Given the description of an element on the screen output the (x, y) to click on. 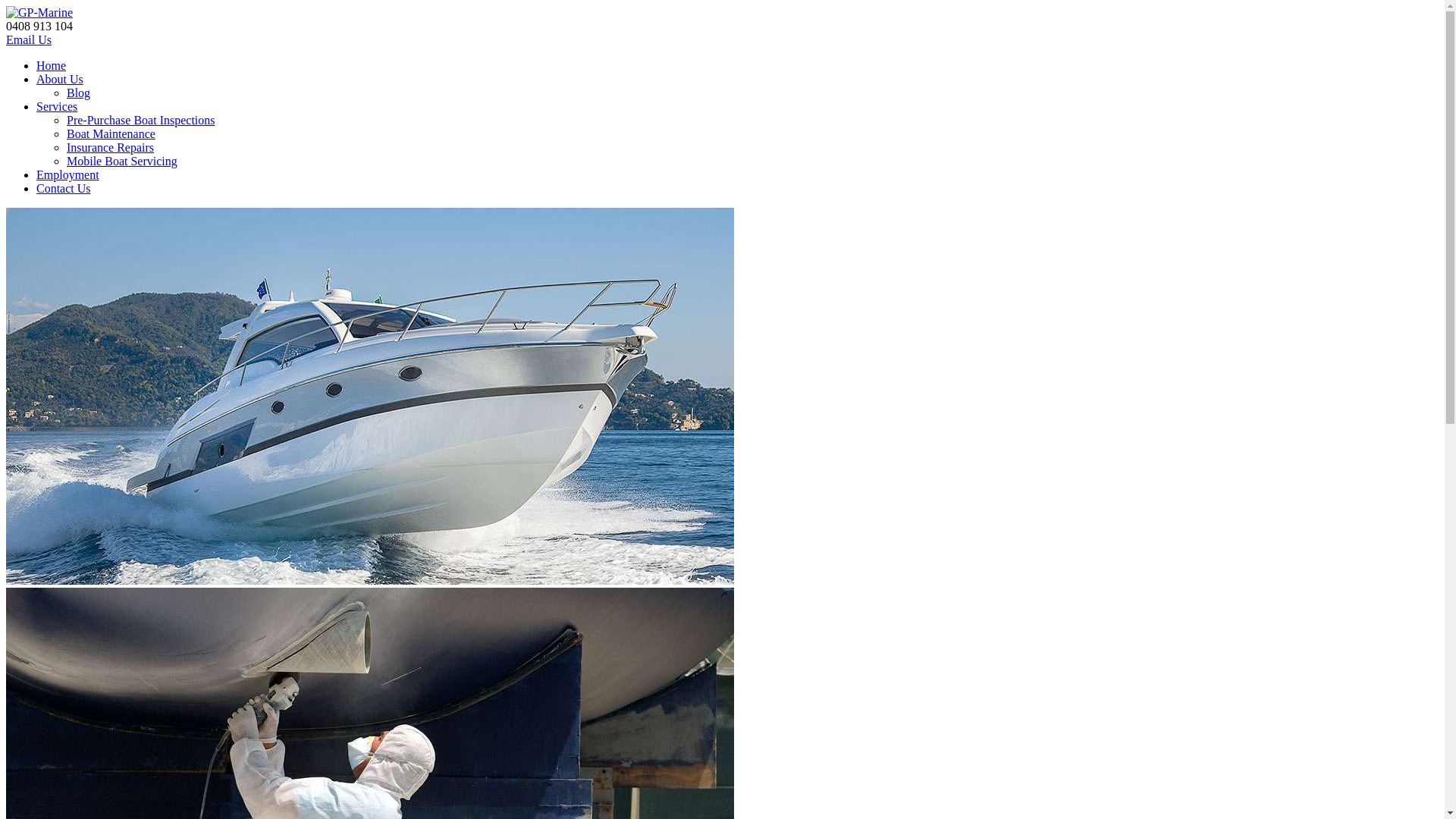
Pre-Purchase Boat Inspections Element type: text (140, 119)
Boat Maintenance Element type: text (110, 133)
Mobile Boat Servicing Element type: text (121, 160)
Banner 1 Element type: hover (370, 395)
Services Element type: text (56, 106)
GP-Marine Element type: hover (39, 12)
Email Us Element type: text (28, 39)
About Us Element type: text (59, 78)
Insurance Repairs Element type: text (109, 147)
Employment Element type: text (67, 174)
Home Element type: text (50, 65)
Blog Element type: text (78, 92)
Contact Us Element type: text (63, 188)
GP-Marine Element type: hover (39, 12)
